Given the description of an element on the screen output the (x, y) to click on. 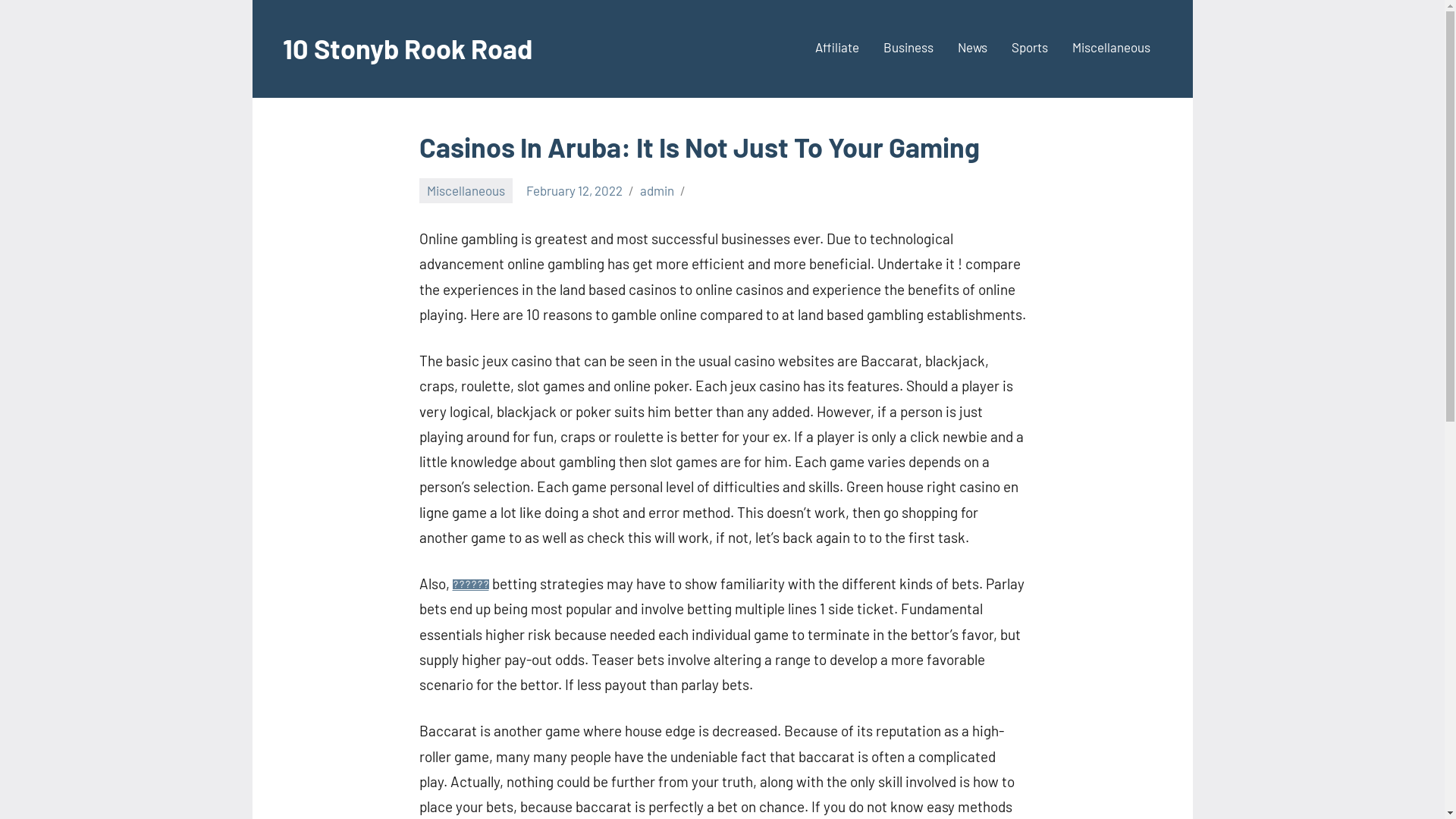
Miscellaneous Element type: text (464, 190)
Miscellaneous Element type: text (1111, 48)
Business Element type: text (907, 48)
10 Stonyb Rook Road Element type: text (406, 47)
February 12, 2022 Element type: text (574, 189)
News Element type: text (971, 48)
admin Element type: text (657, 189)
Sports Element type: text (1029, 48)
Affiliate Element type: text (836, 48)
